Given the description of an element on the screen output the (x, y) to click on. 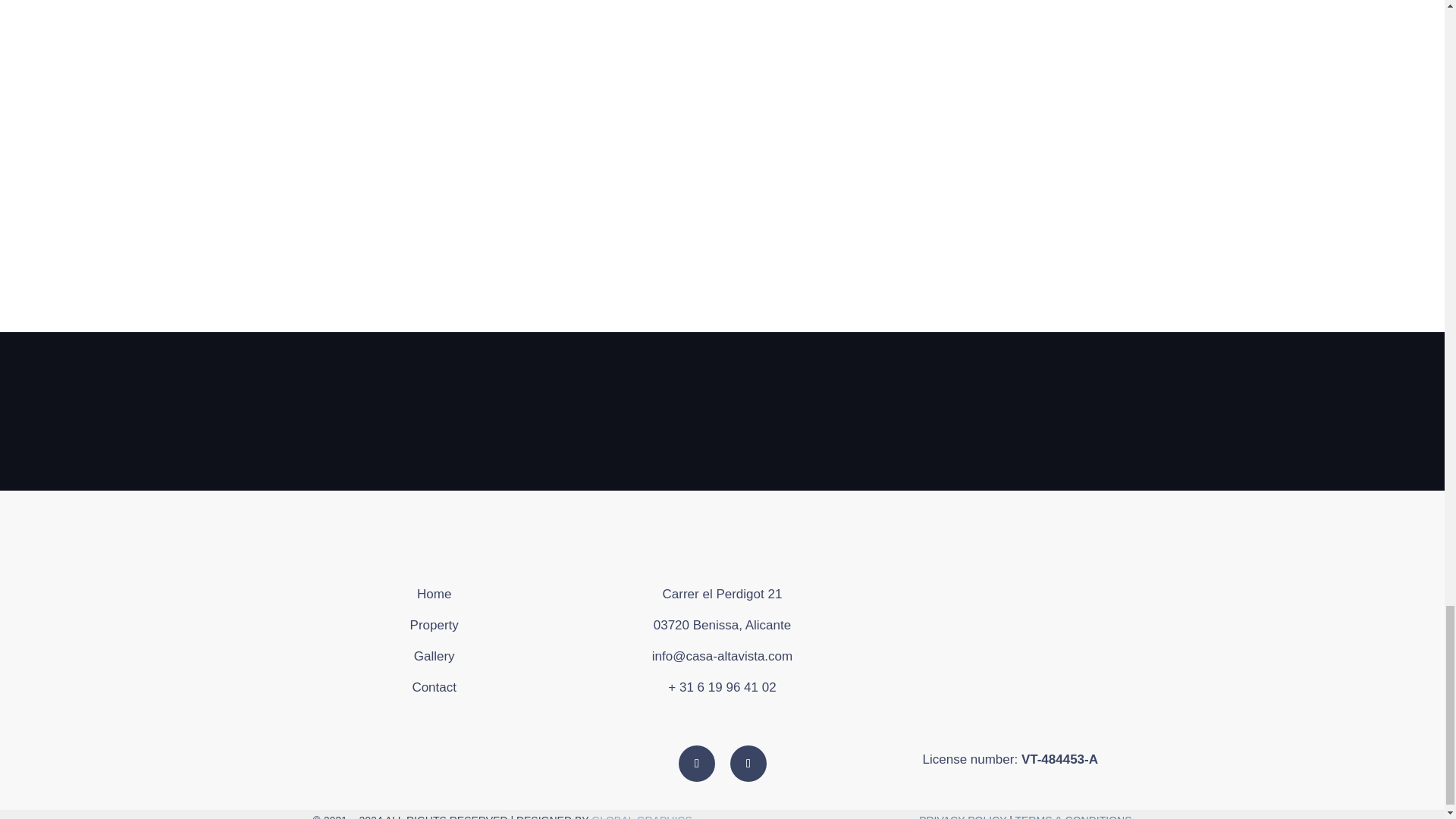
GLOBAL GRAPHICS (642, 816)
Follow on Facebook (696, 763)
Follow on Instagram (748, 763)
Property (434, 625)
Gallery (433, 656)
PRIVACY POLICY (962, 816)
Home (433, 594)
Contact (434, 687)
